Given the description of an element on the screen output the (x, y) to click on. 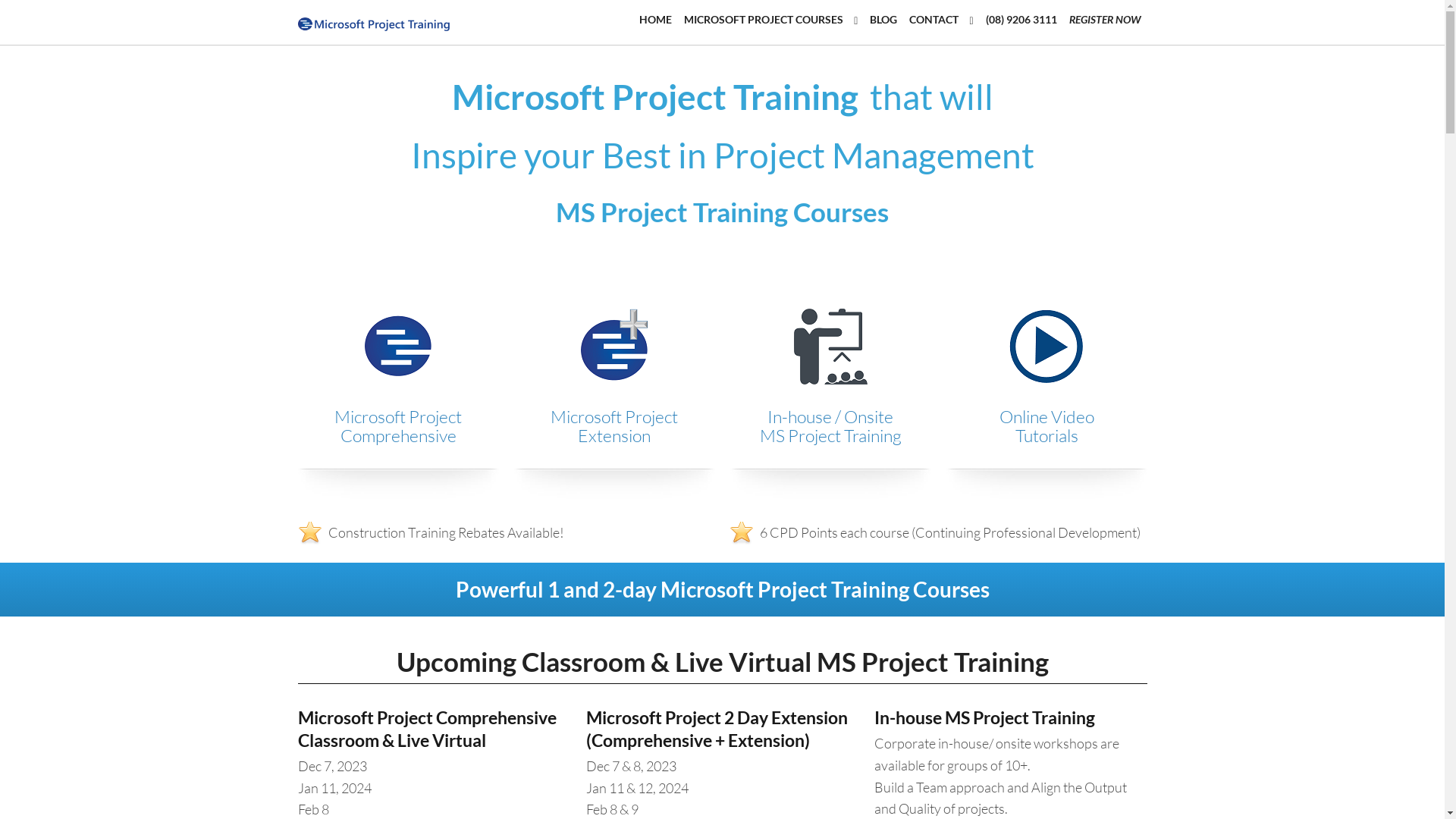
Microsoft Project Comprehensive Element type: text (397, 425)
In-house / Onsite
MS Project Training Element type: text (830, 425)
Online Video
Tutorials Element type: text (1046, 425)
(08) 9206 3111 Element type: text (1021, 19)
Microsoft Project Extension Element type: text (613, 425)
MICROSOFT PROJECT COURSES Element type: text (770, 19)
HOME Element type: text (655, 19)
REGISTER NOW Element type: text (1105, 19)
CONTACT Element type: text (941, 19)
Microsoft Project Training Element type: hover (372, 20)
BLOG Element type: text (883, 19)
